Given the description of an element on the screen output the (x, y) to click on. 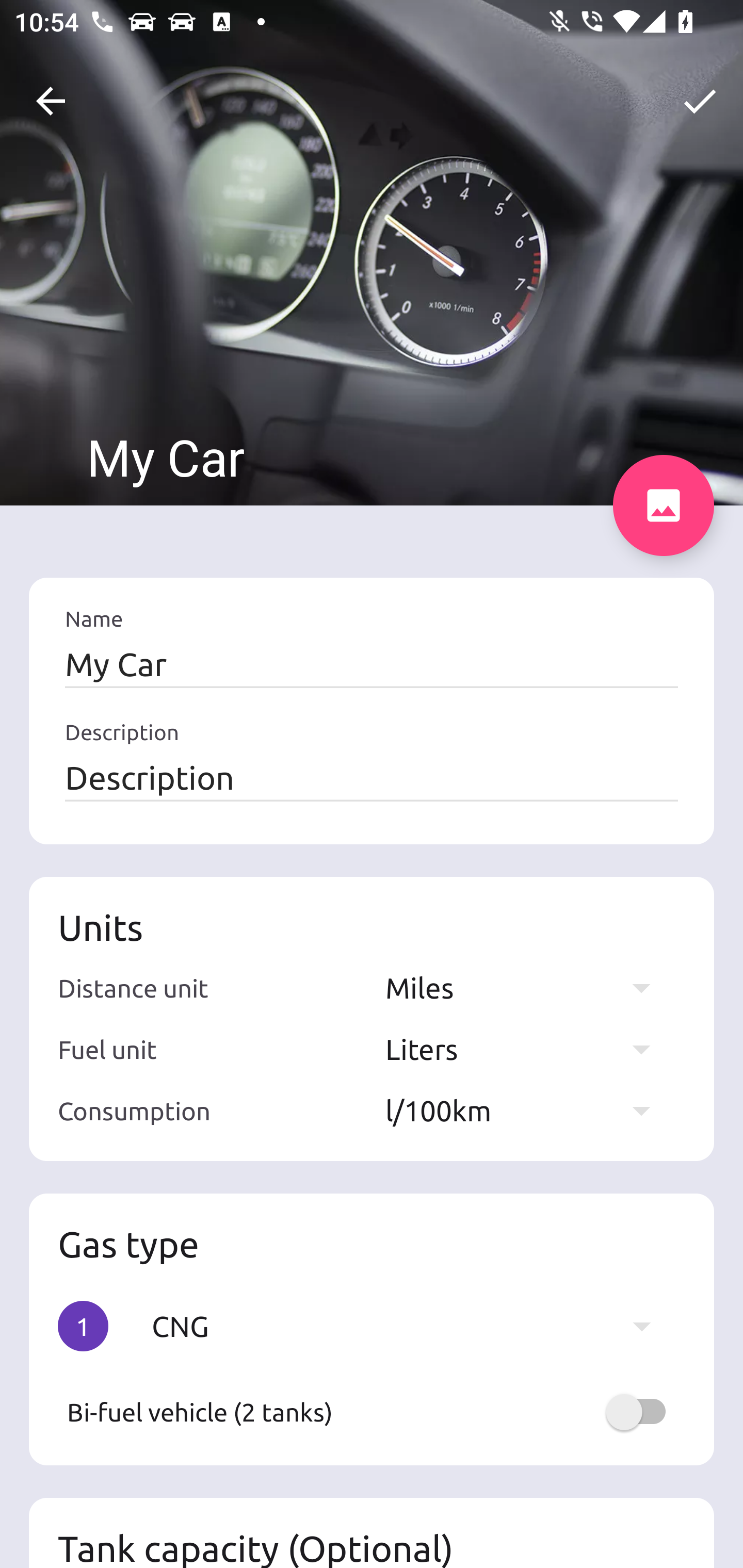
Navigate up (50, 101)
OK (699, 101)
My Car (371, 664)
Description (371, 777)
Miles (527, 987)
Liters (527, 1048)
l/100km (527, 1110)
CNG (411, 1325)
Bi-fuel vehicle (2 tanks) (371, 1411)
